Given the description of an element on the screen output the (x, y) to click on. 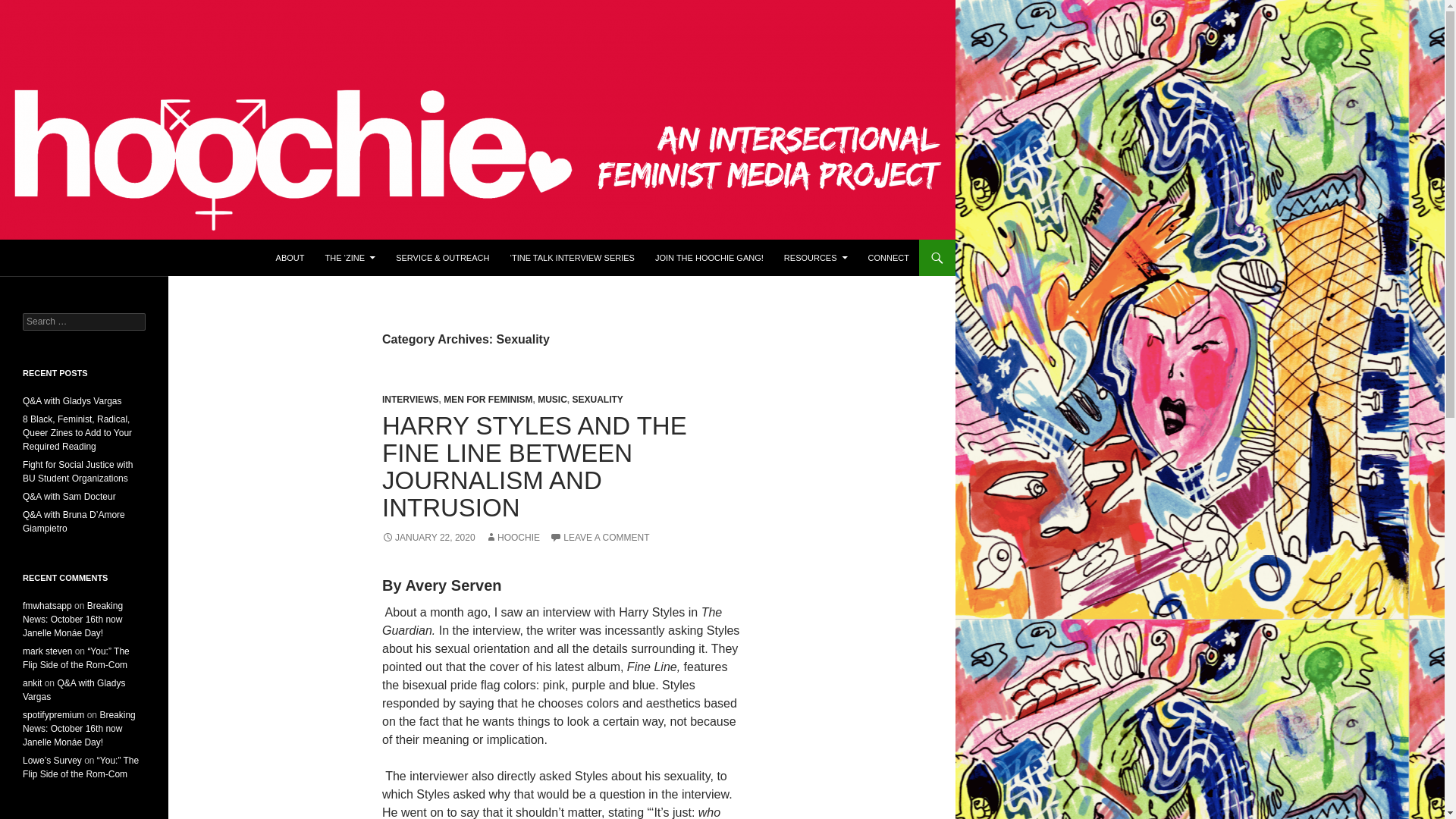
fmwhatsapp (47, 605)
MUSIC (552, 398)
LEAVE A COMMENT (599, 537)
Search (30, 8)
SEXUALITY (597, 398)
JANUARY 22, 2020 (428, 537)
ABOUT (290, 257)
HOOCHIE (512, 537)
